Given the description of an element on the screen output the (x, y) to click on. 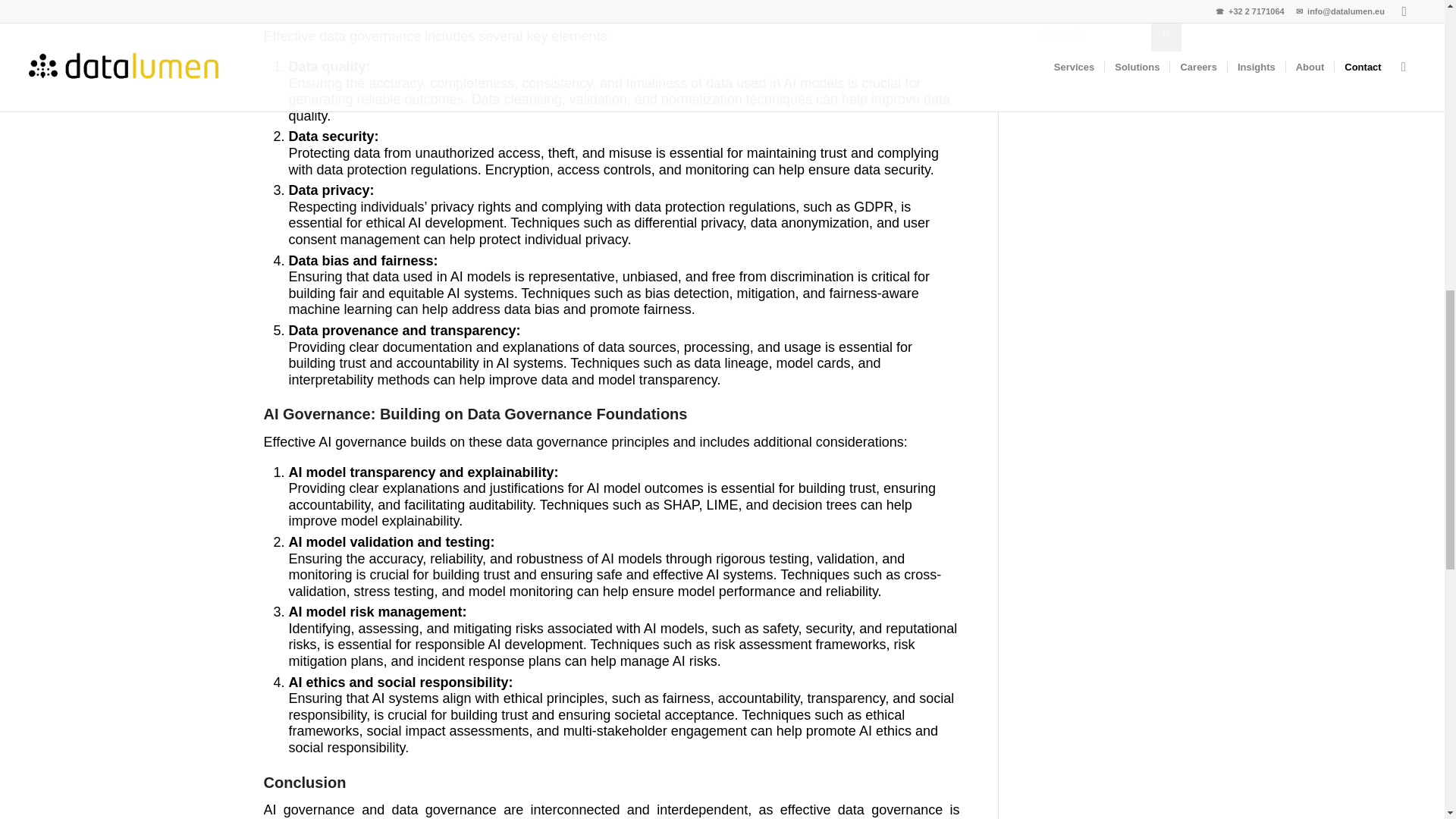
LIME (722, 504)
data bias (531, 309)
cross-validation (614, 582)
risk assessment frameworks (799, 644)
data quality (619, 107)
AI risks (694, 661)
SHAP (680, 504)
model monitoring (520, 590)
GDPR (873, 206)
data protection (679, 206)
